Given the description of an element on the screen output the (x, y) to click on. 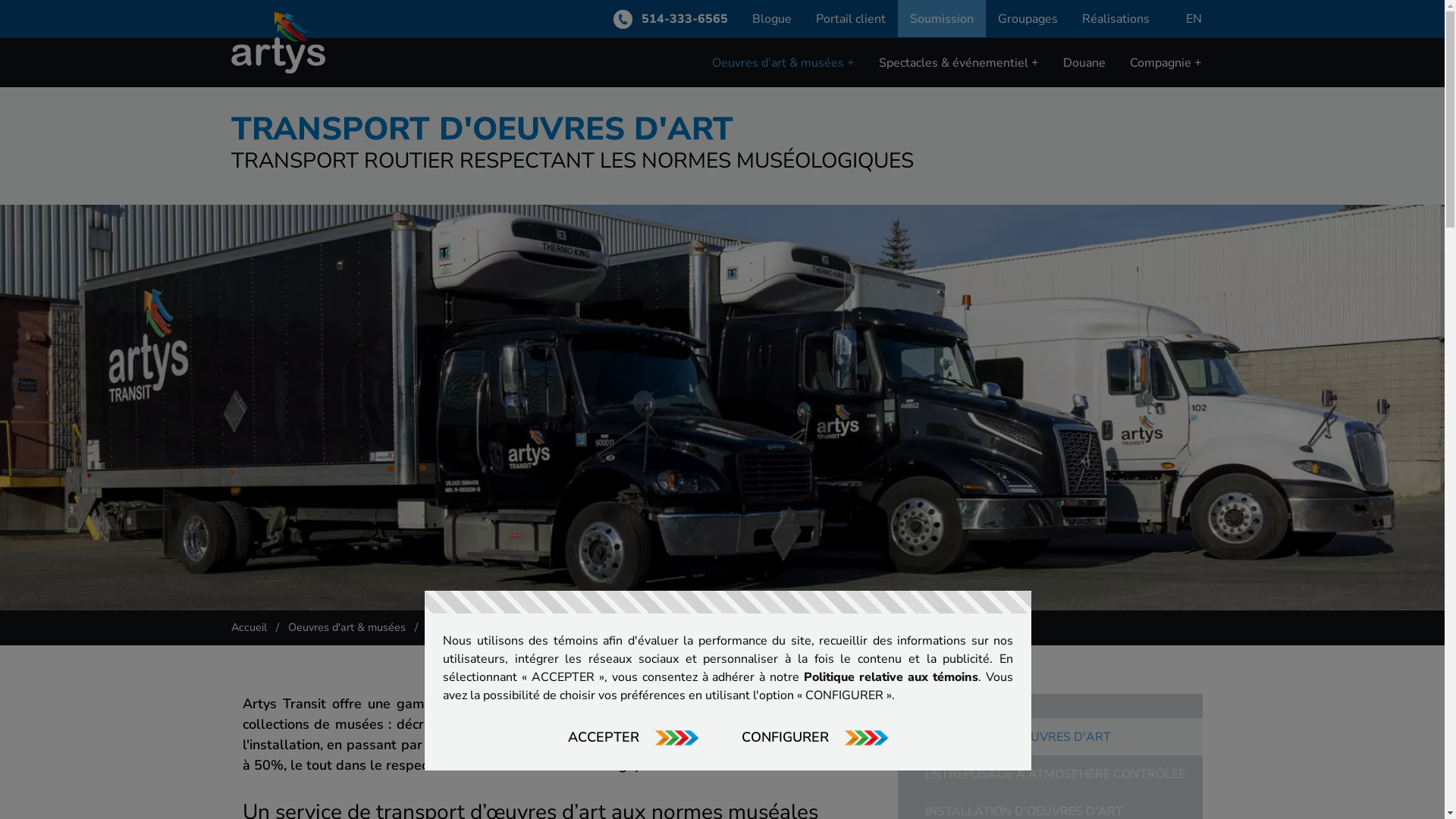
Transport Element type: text (919, 96)
TRANSPORT D'OEUVRES D'ART Element type: text (1018, 736)
EN Element type: text (1193, 18)
514-333-6565 Element type: text (669, 18)
Entreposage Element type: text (927, 96)
CONFIGURER Element type: text (814, 737)
Portail client Element type: text (850, 18)
Accueil Element type: text (248, 626)
Douane Element type: text (1084, 62)
Groupages Element type: text (1027, 18)
Installation Element type: text (757, 96)
Emploi Element type: text (1163, 96)
Soumission Element type: text (941, 18)
Fabrication de caisses Element type: text (785, 96)
Blogue Element type: text (771, 18)
ACCEPTER Element type: text (632, 737)
Transport Element type: text (752, 96)
Entreposage Element type: text (760, 96)
Compagnie Element type: text (1165, 62)
Contactez-nous Element type: text (1187, 96)
